Given the description of an element on the screen output the (x, y) to click on. 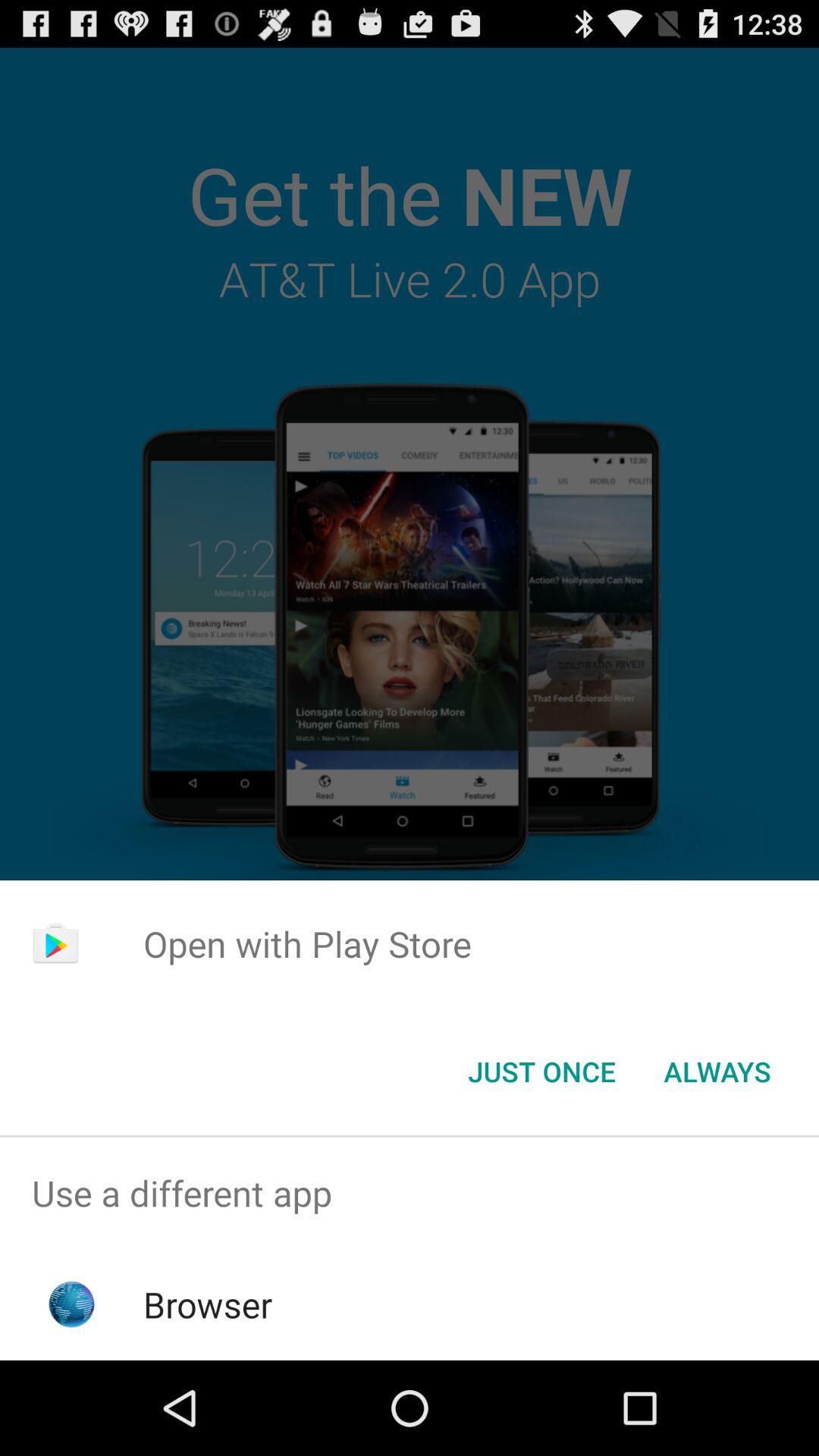
select the app below open with play (541, 1071)
